Given the description of an element on the screen output the (x, y) to click on. 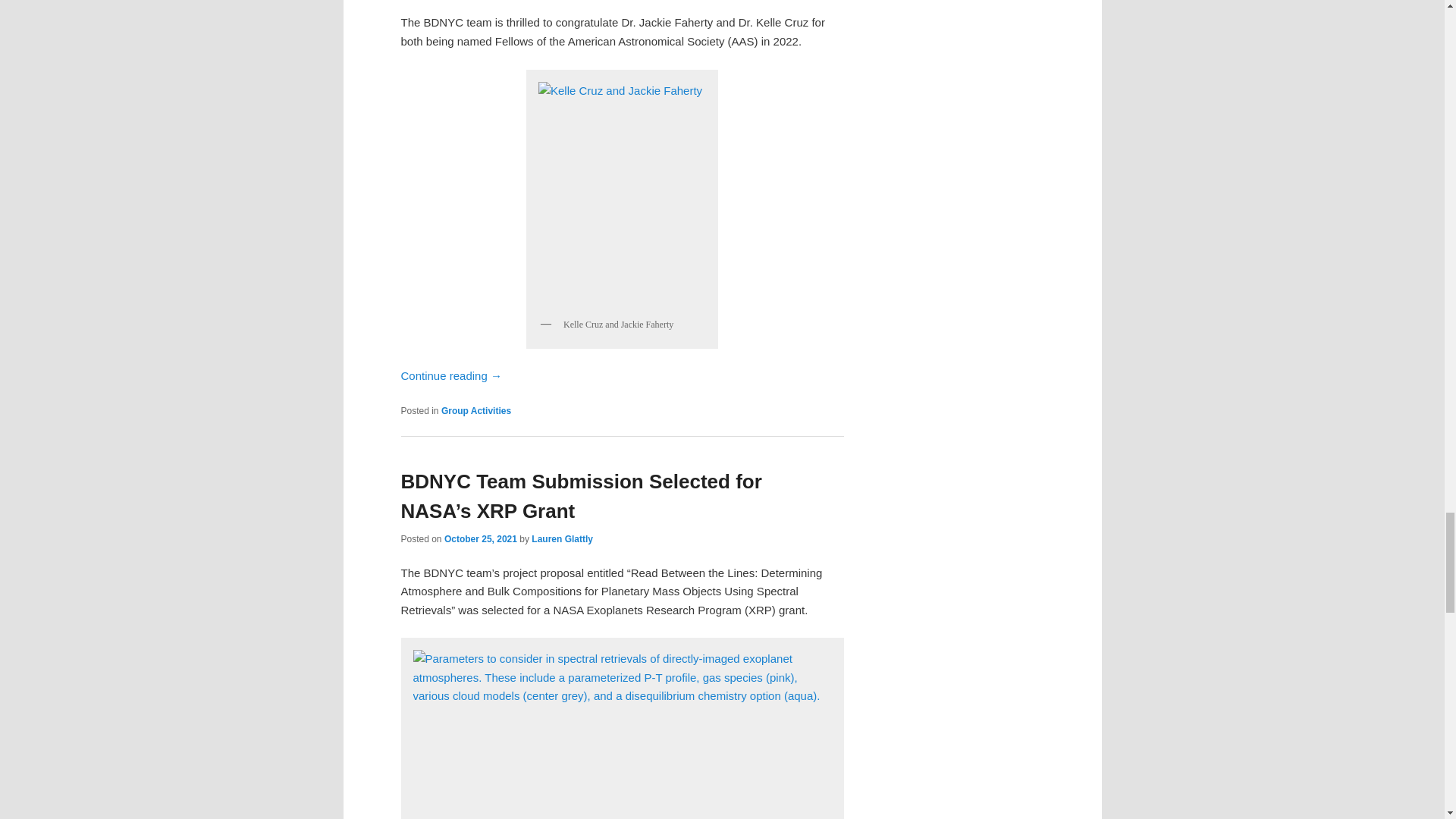
4:59 pm (480, 538)
